Given the description of an element on the screen output the (x, y) to click on. 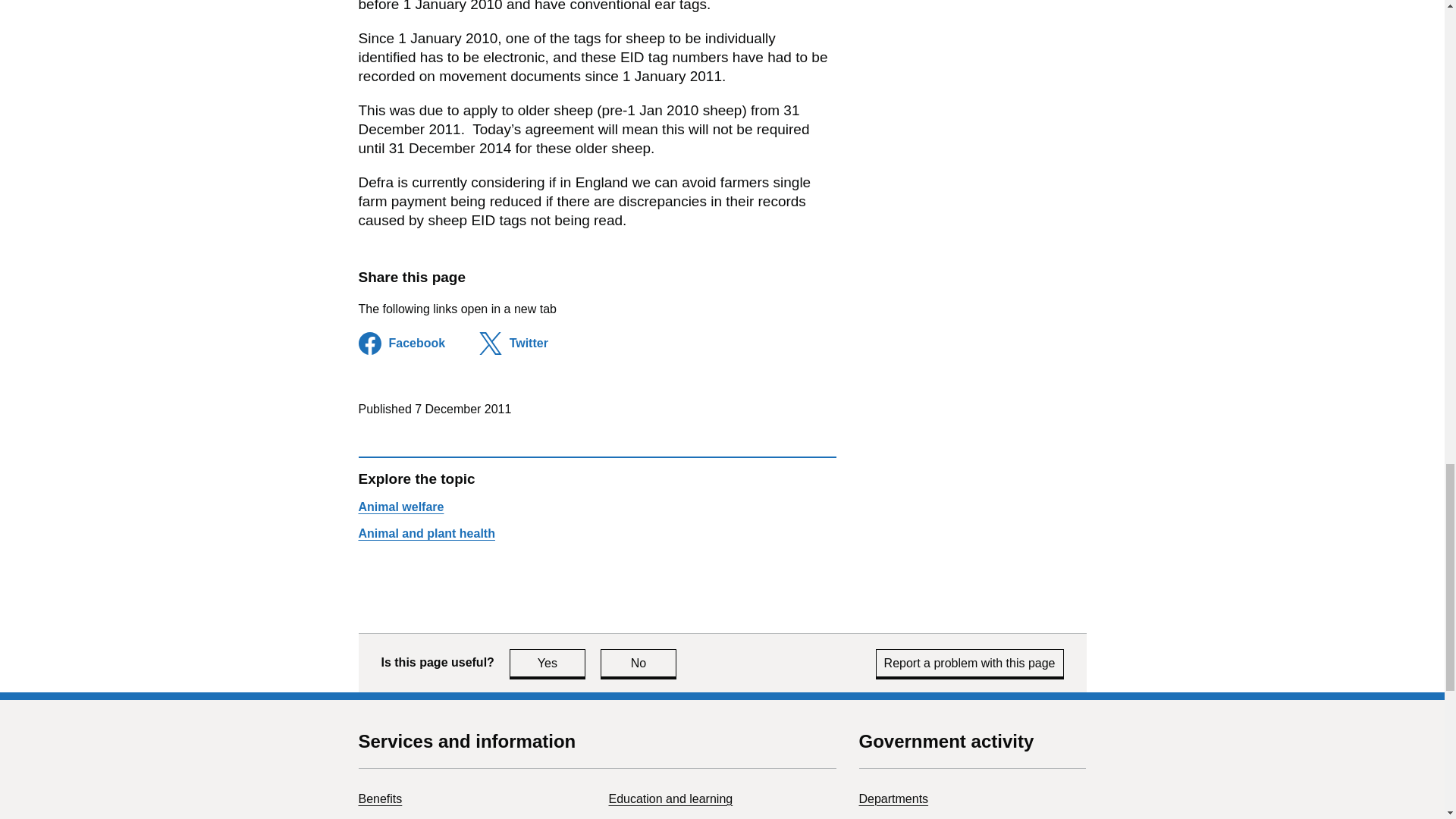
Animal welfare (401, 506)
Animal and plant health (426, 533)
Education and learning (670, 798)
Report a problem with this page (547, 663)
Departments (970, 663)
Benefits (638, 663)
